Given the description of an element on the screen output the (x, y) to click on. 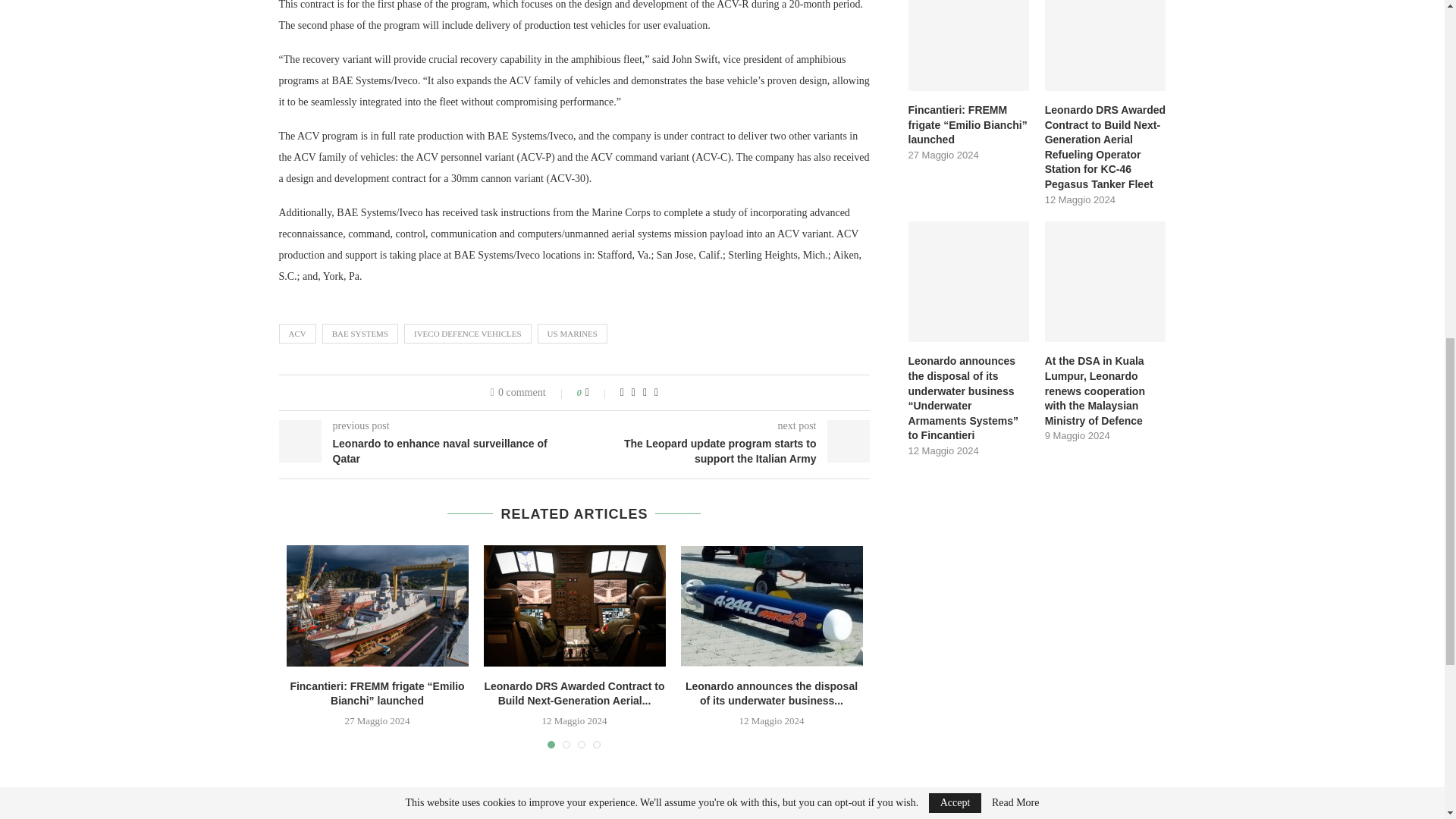
ACV (297, 333)
US MARINES (572, 333)
IVECO DEFENCE VEHICLES (467, 333)
BAE SYSTEMS (359, 333)
Like (597, 392)
Leonardo to enhance naval surveillance of Qatar (427, 451)
